Given the description of an element on the screen output the (x, y) to click on. 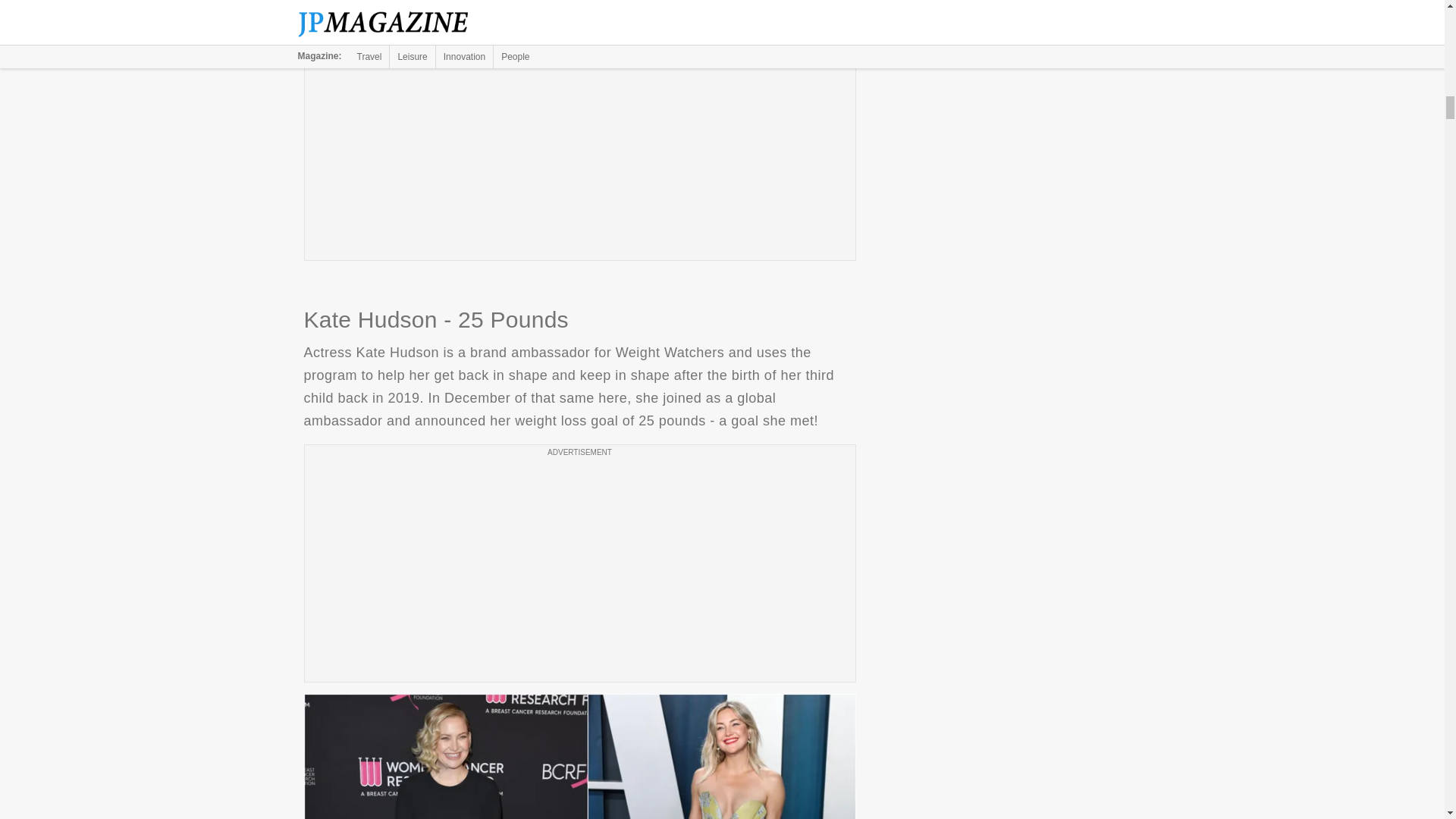
Kate Hudson - 25 Pounds (579, 756)
